Given the description of an element on the screen output the (x, y) to click on. 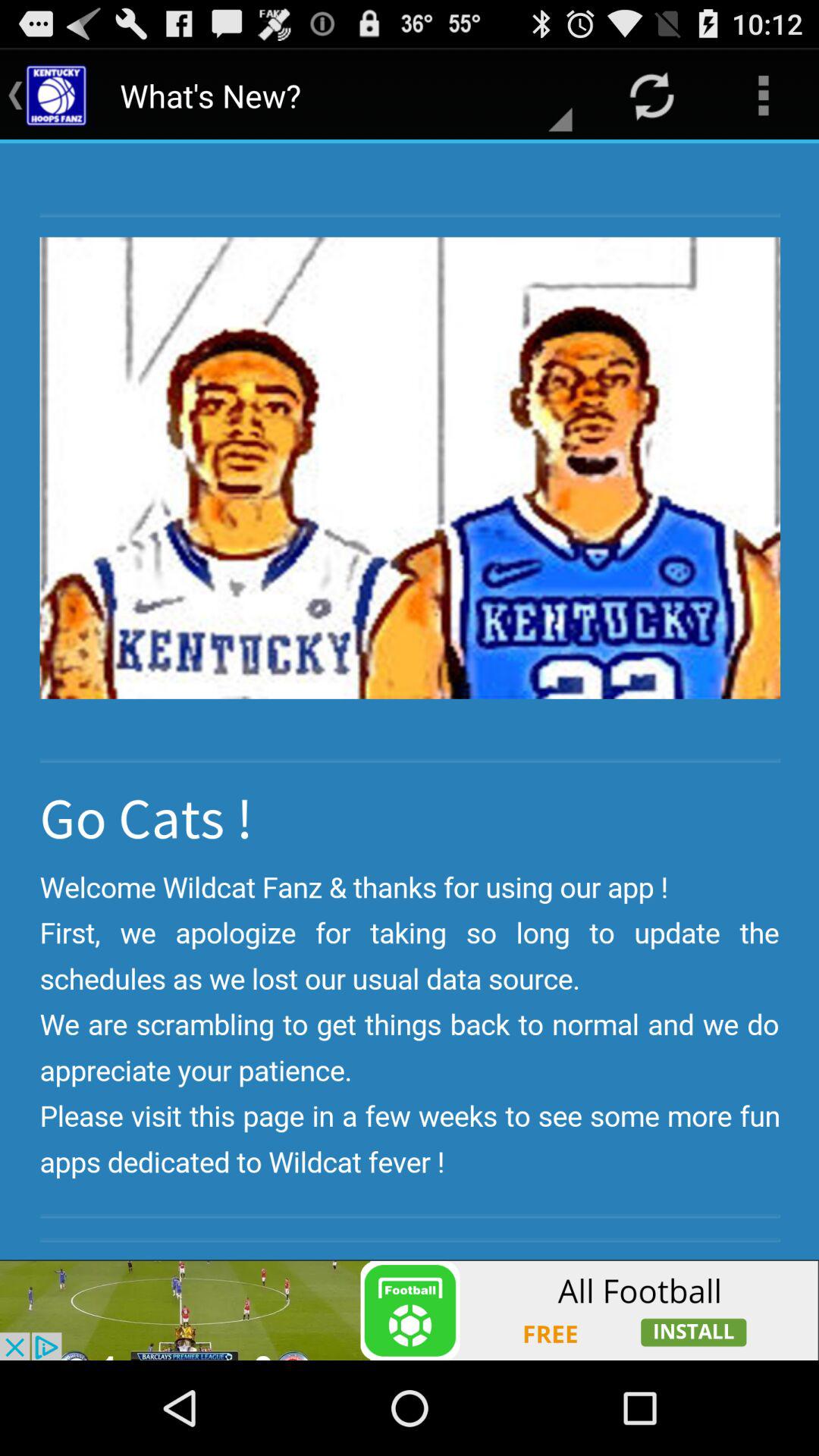
advertisement about foodball (409, 1310)
